Given the description of an element on the screen output the (x, y) to click on. 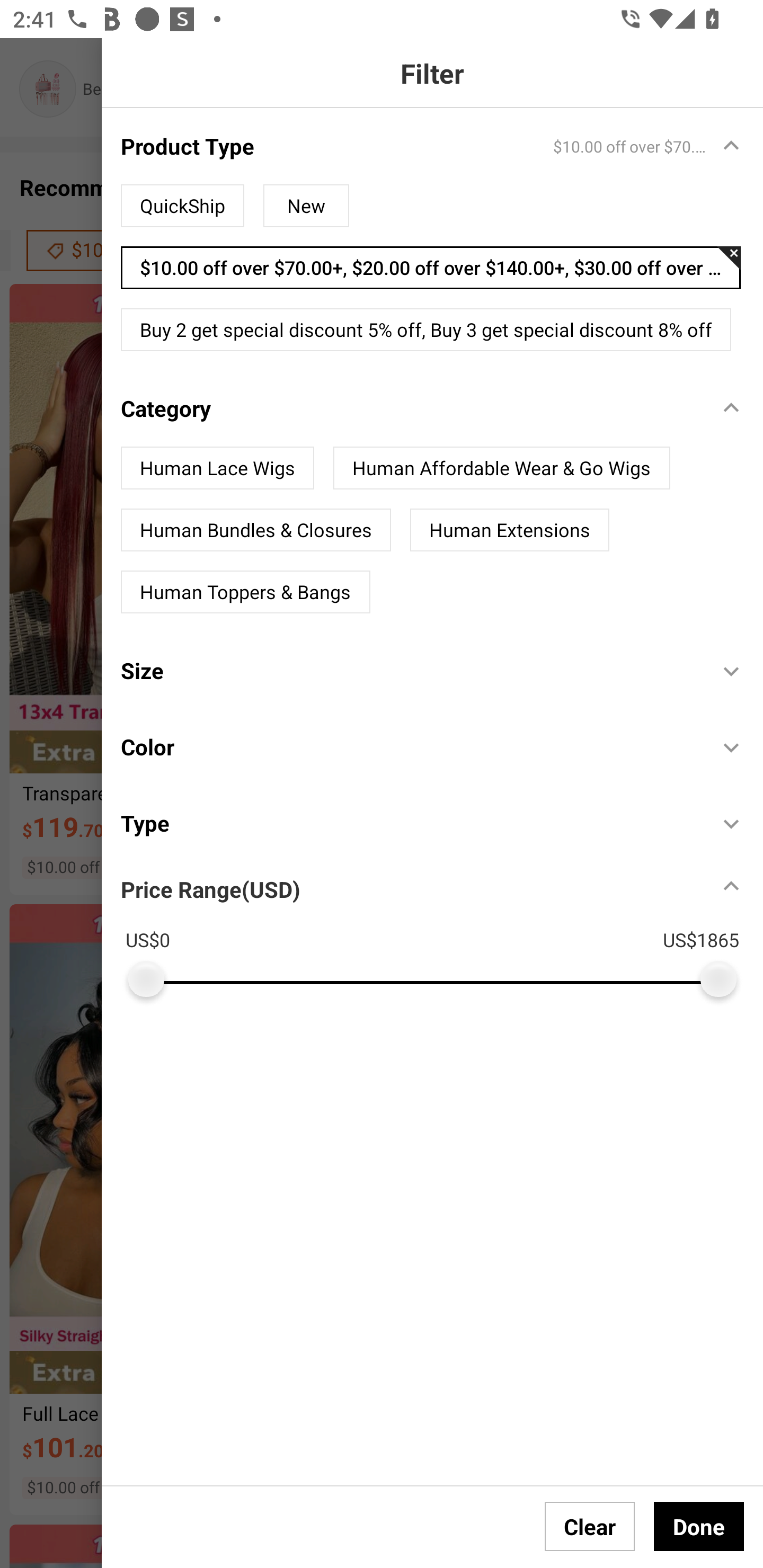
Wigs & Accs (446, 89)
Product Type (409, 145)
QuickShip (182, 206)
New (306, 206)
Category (409, 408)
Human Lace Wigs (217, 467)
Human Affordable Wear & Go Wigs (501, 467)
Human Bundles & Closures (255, 529)
Human Extensions (509, 529)
Human Toppers & Bangs (245, 591)
Size (409, 670)
Color (409, 746)
Type (409, 823)
Price Range(USD) US$0 US$1865 (441, 928)
Price Range(USD) (210, 888)
Clear (589, 1526)
Done (698, 1526)
